Given the description of an element on the screen output the (x, y) to click on. 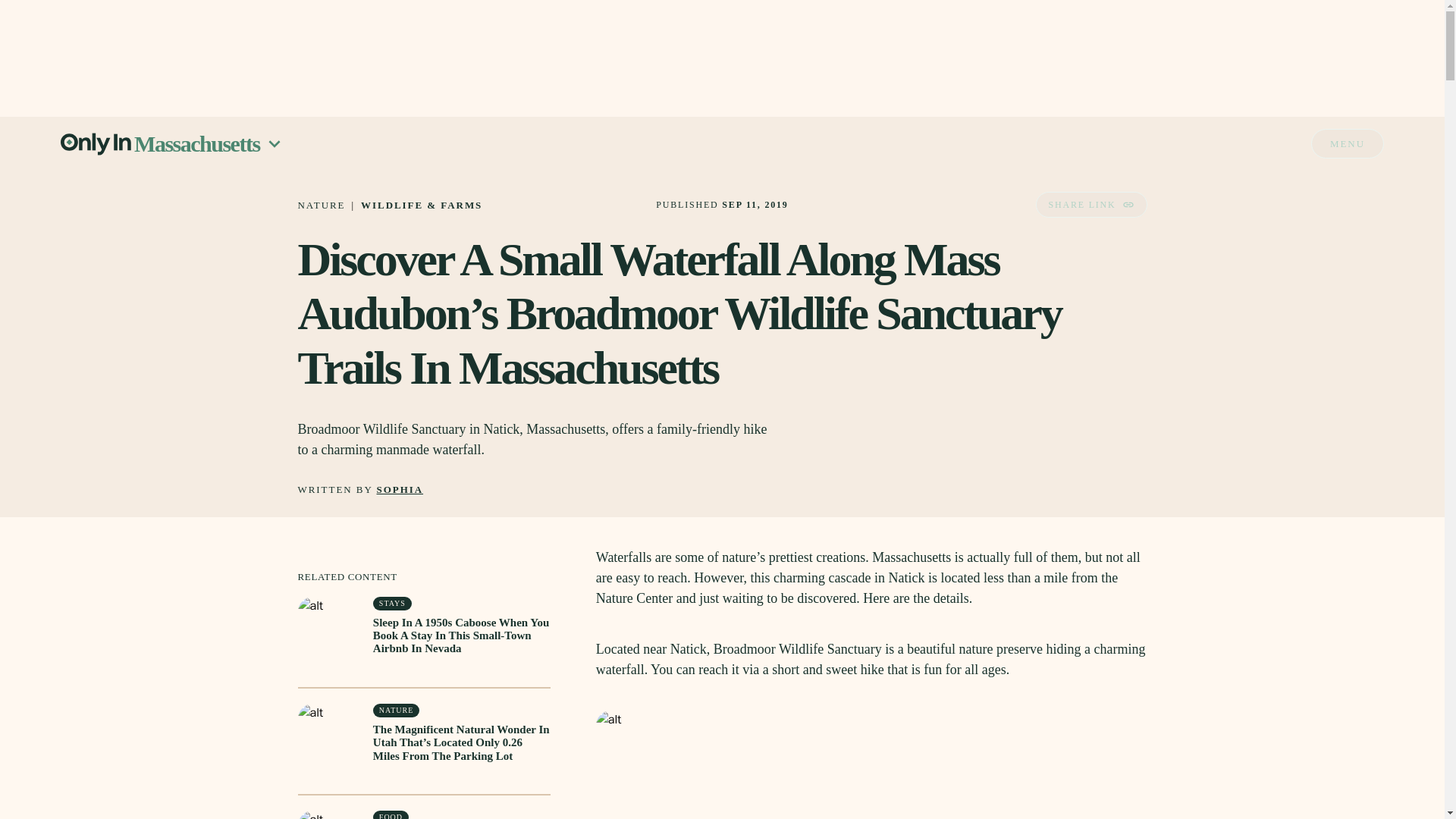
SOPHIA (400, 490)
SHARE LINK (1091, 204)
MENU (1347, 143)
NATURE (321, 204)
